Given the description of an element on the screen output the (x, y) to click on. 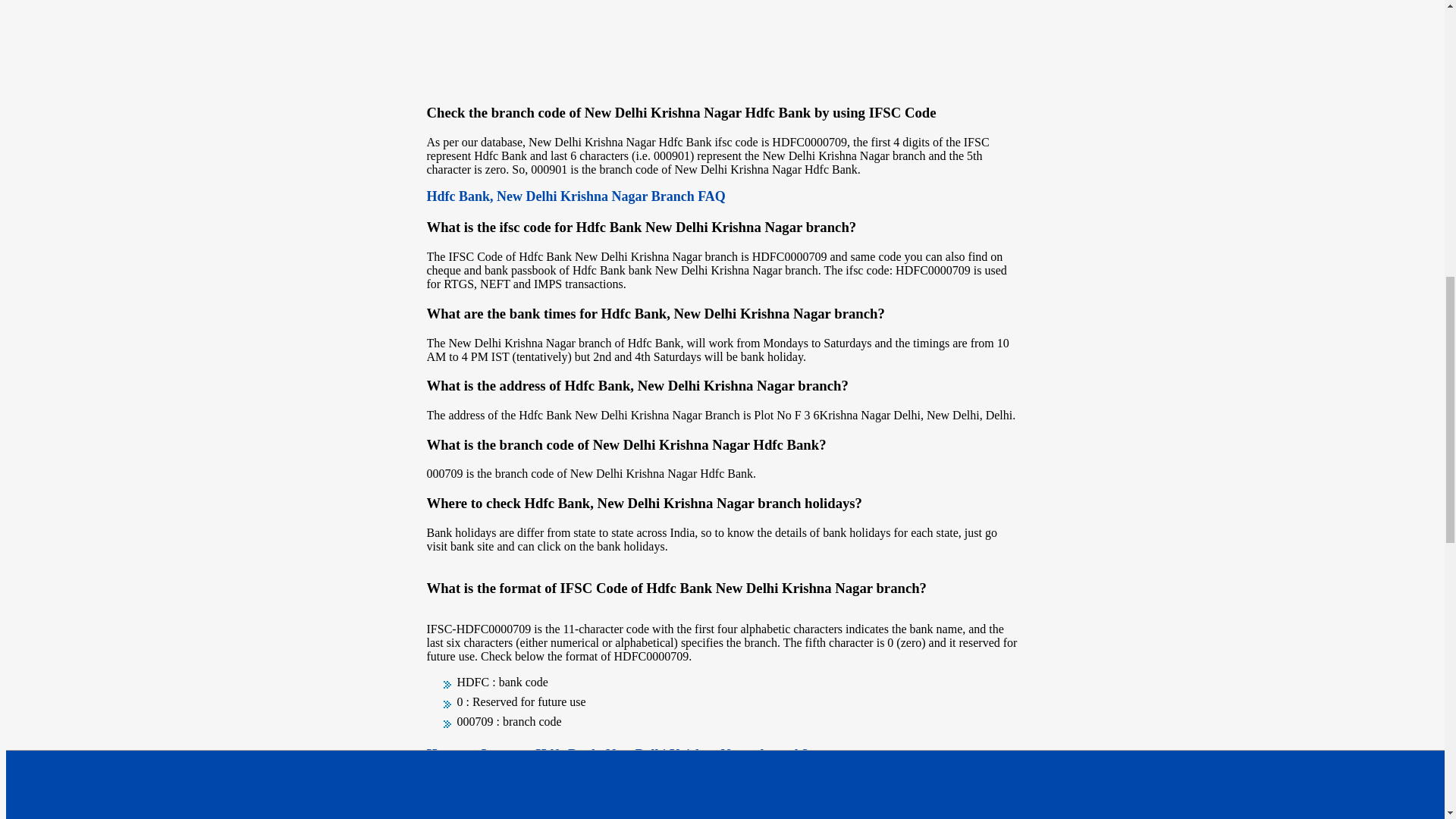
Advertisement (721, 45)
